Given the description of an element on the screen output the (x, y) to click on. 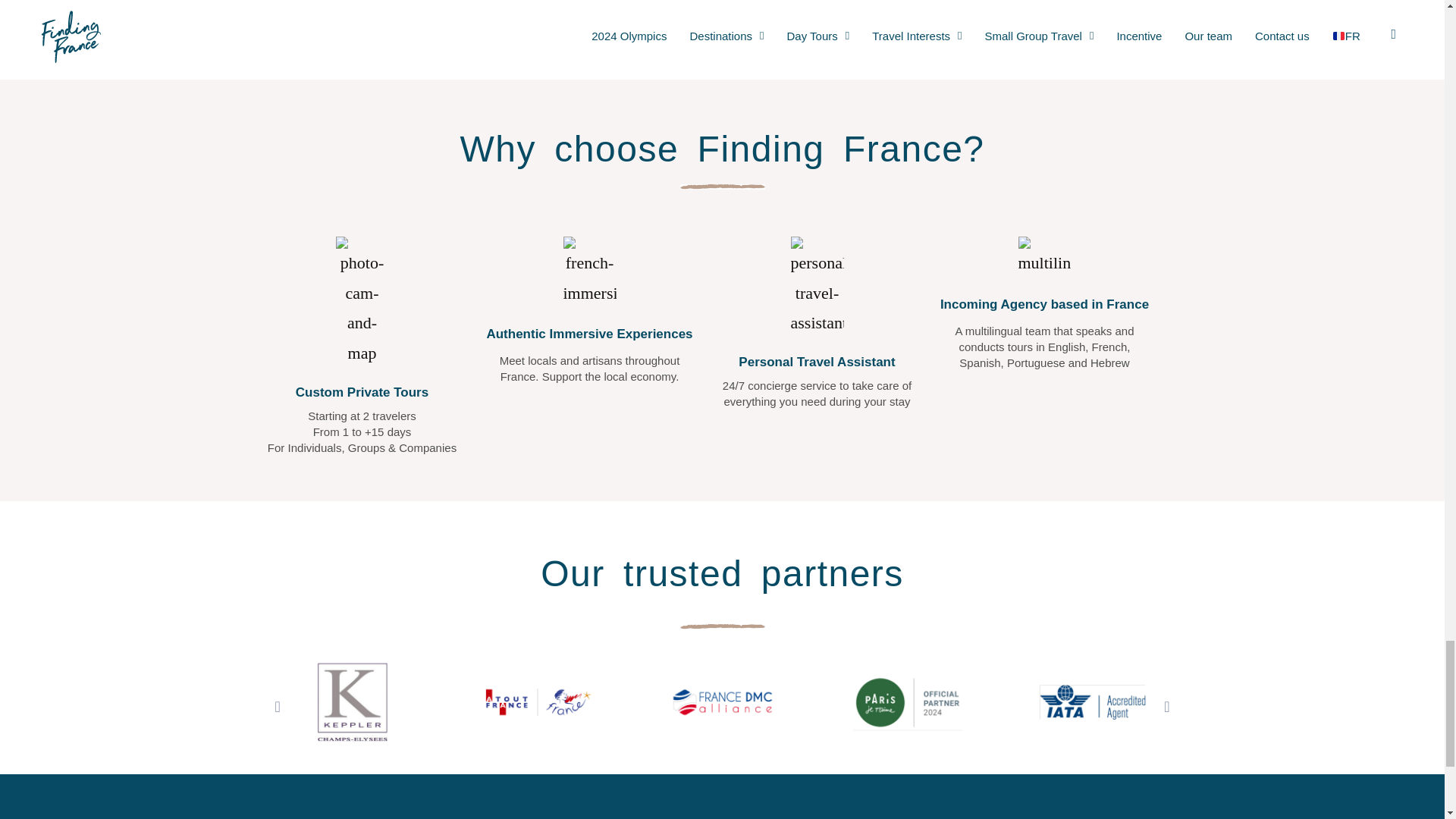
multilingual (1043, 257)
personal-travel-assistant (816, 287)
photo-cam-and-map (361, 302)
french-immersion (588, 272)
